Given the description of an element on the screen output the (x, y) to click on. 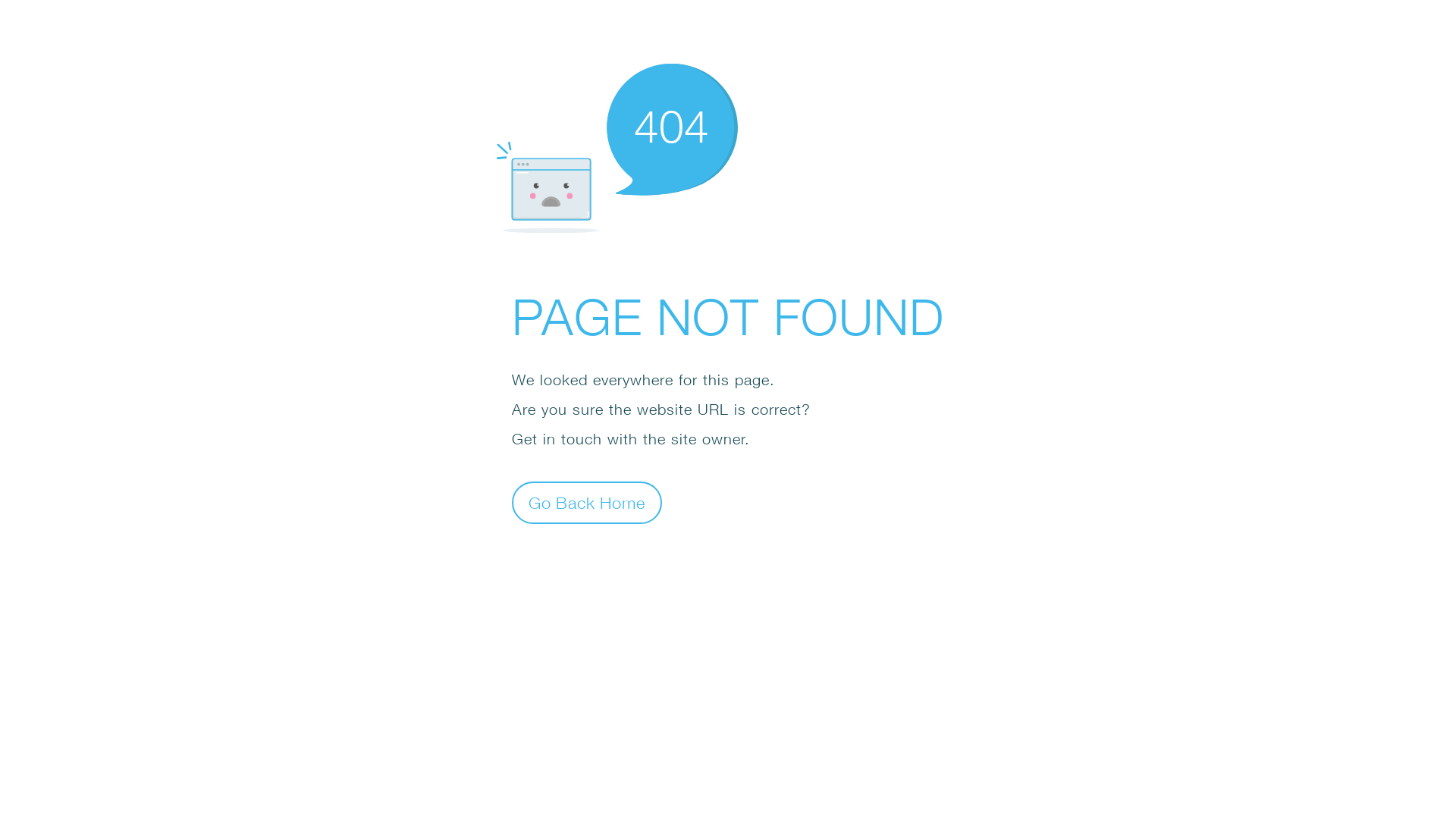
Go Back Home Element type: text (586, 502)
